Given the description of an element on the screen output the (x, y) to click on. 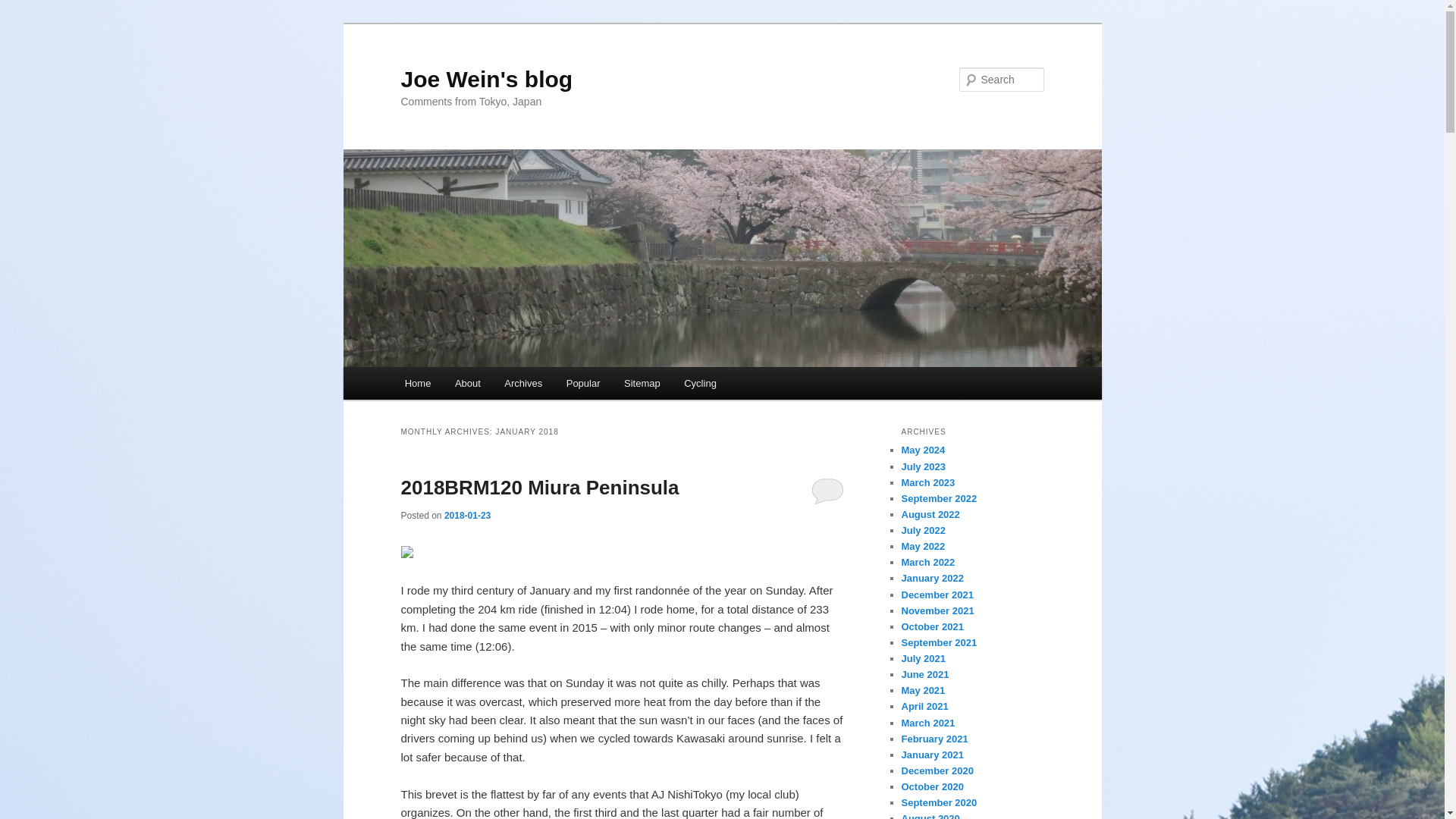
Popular (582, 382)
Home (417, 382)
Archives (523, 382)
Search (24, 8)
Cycling (699, 382)
2018BRM120 Miura Peninsula (539, 486)
2018-01-23 (467, 515)
Sitemap (641, 382)
About (467, 382)
